Given the description of an element on the screen output the (x, y) to click on. 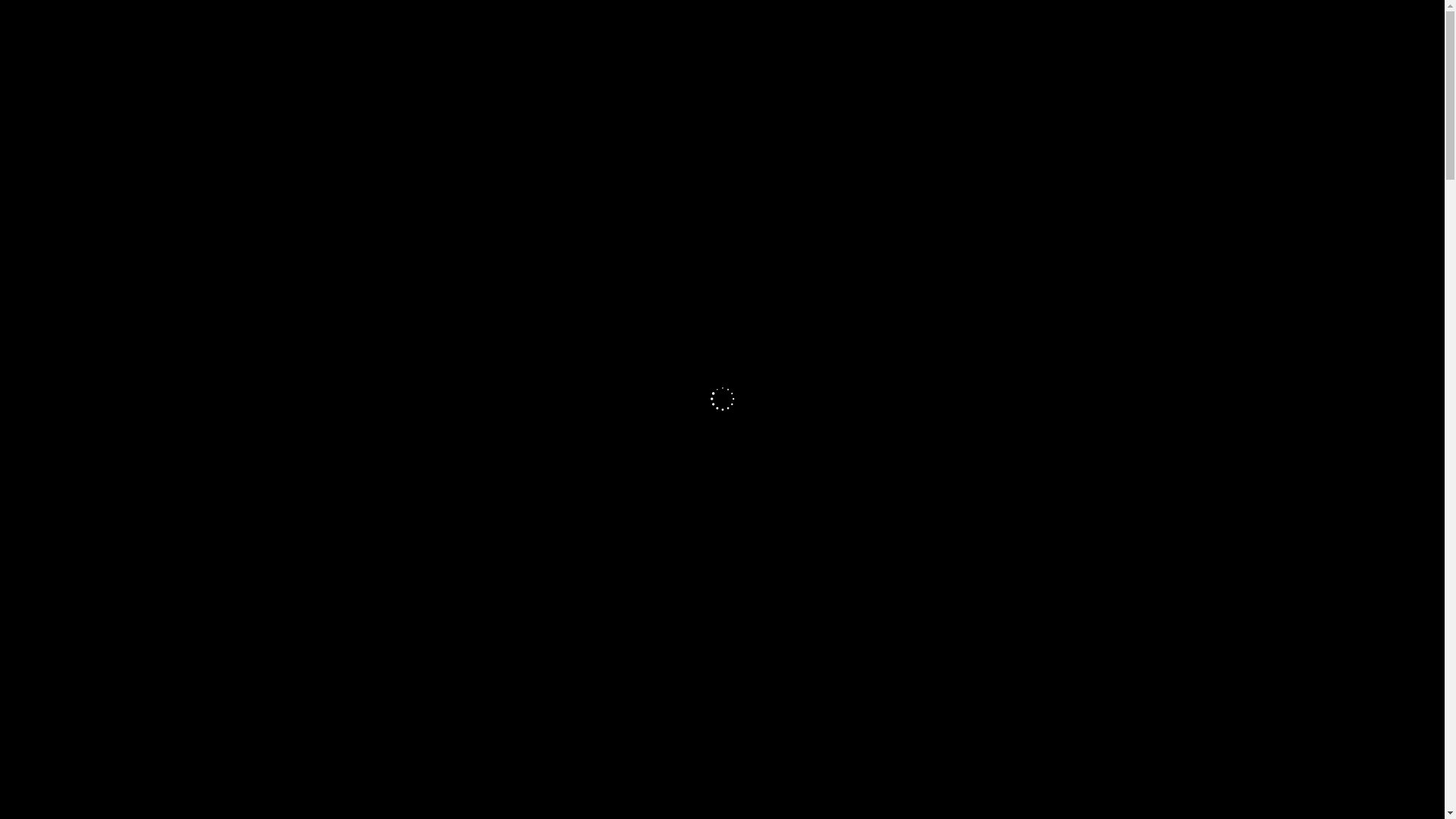
TOP Element type: text (485, 78)
NEWS Element type: text (532, 78)
EVENT INFO Element type: text (876, 78)
STAFF Element type: text (723, 78)
DRINK MENU Element type: text (793, 78)
ABOUT Element type: text (587, 78)
EQUIPMENT Element type: text (656, 78)
ACCESS Element type: text (948, 78)
